Given the description of an element on the screen output the (x, y) to click on. 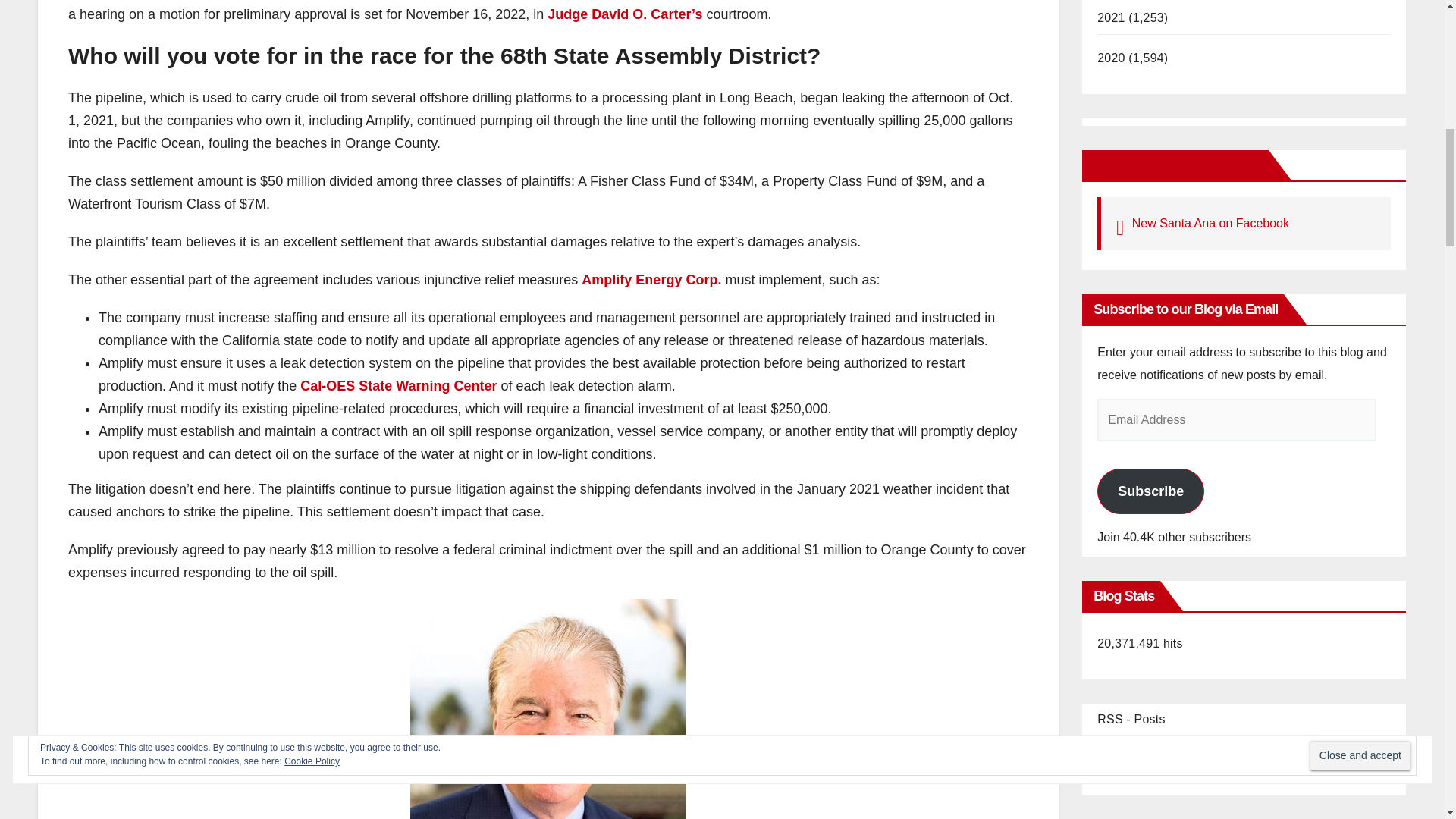
Amplify Energy Corp. (650, 279)
Cal-OES State Warning Center (397, 385)
Wylie-Aitken - New Santa Ana (547, 708)
